Given the description of an element on the screen output the (x, y) to click on. 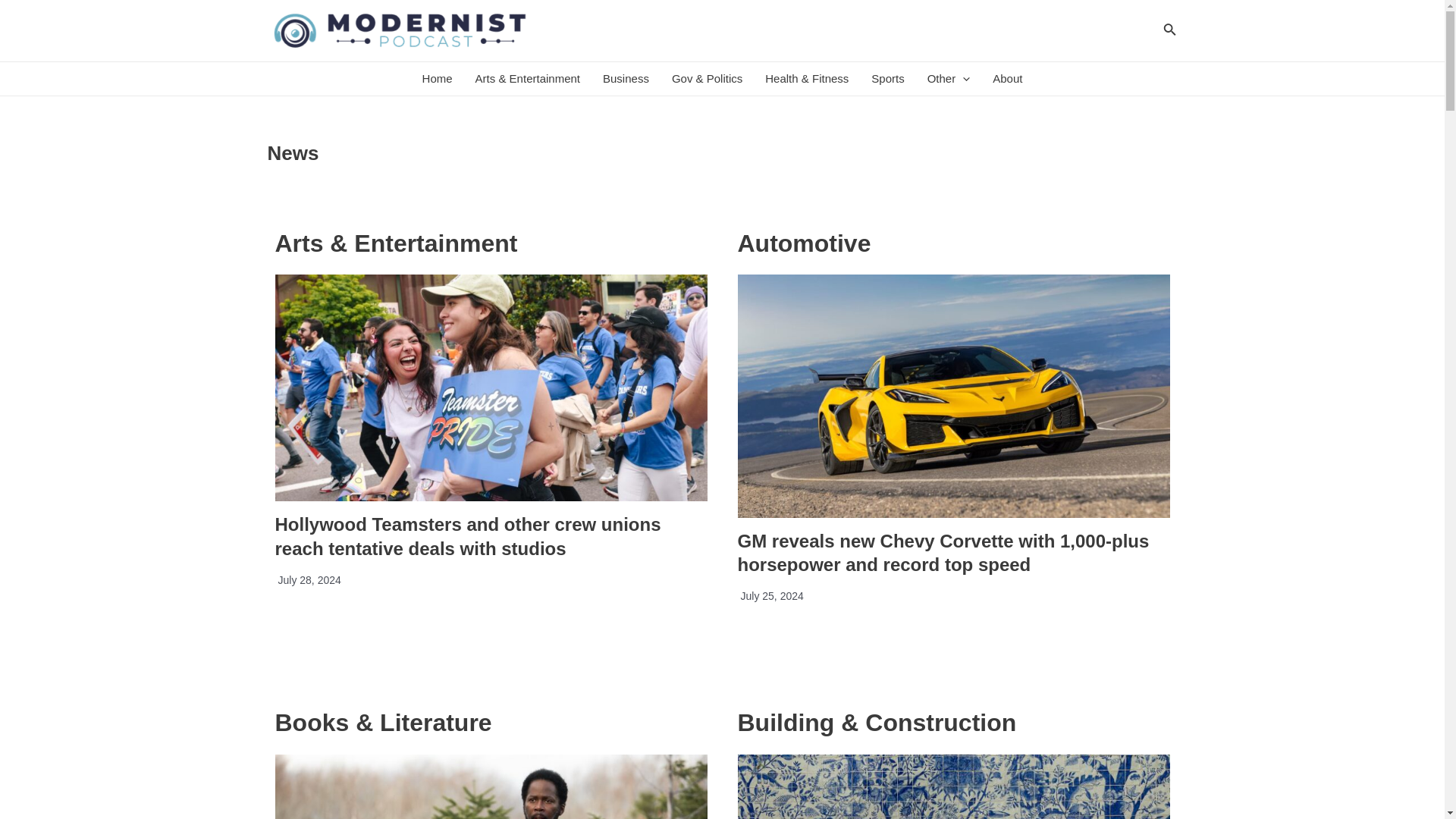
Sports (887, 78)
Business (626, 78)
Other (948, 78)
About (1007, 78)
Home (437, 78)
